Given the description of an element on the screen output the (x, y) to click on. 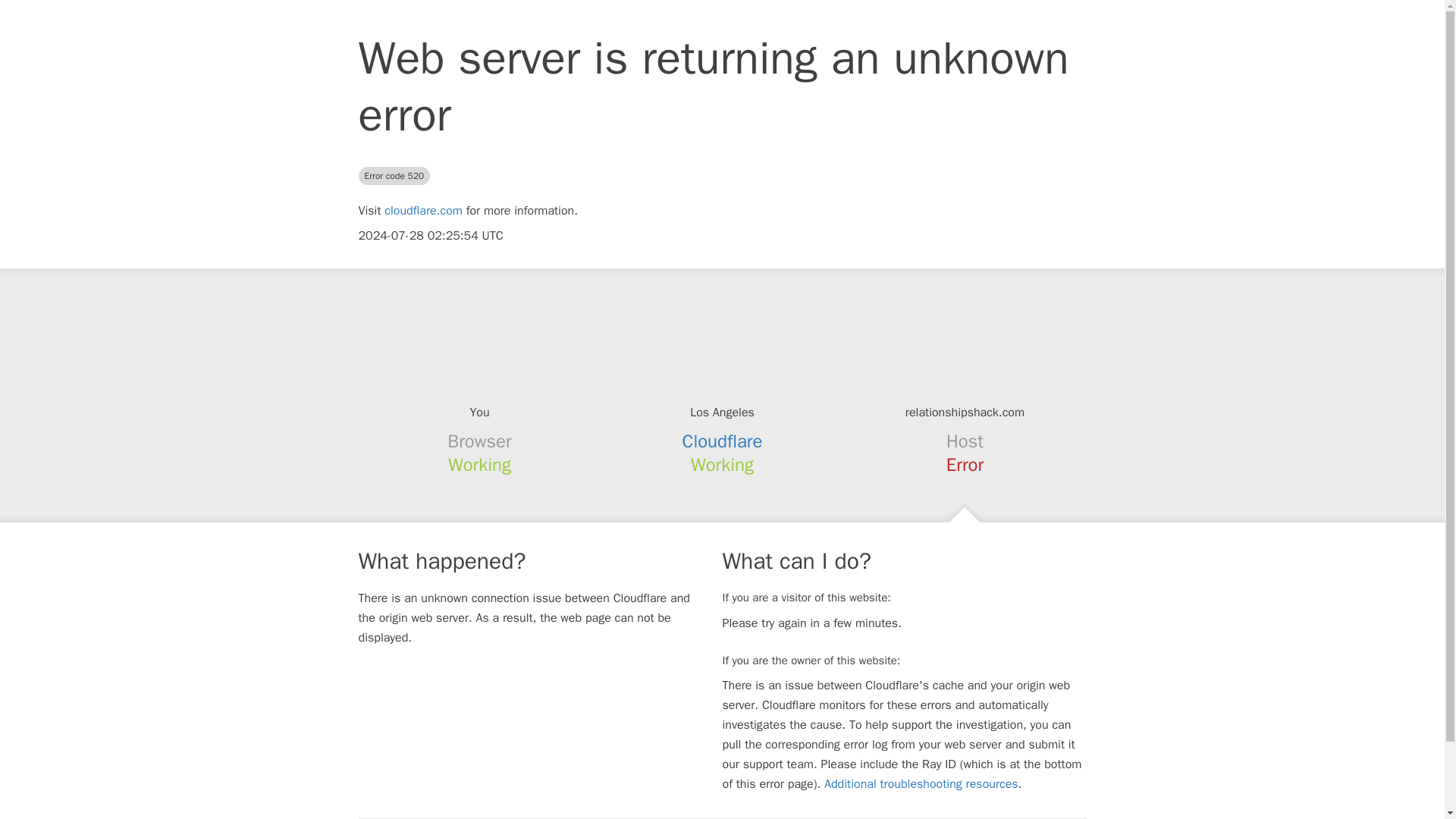
Additional troubleshooting resources (920, 783)
Cloudflare (722, 440)
cloudflare.com (423, 210)
